Given the description of an element on the screen output the (x, y) to click on. 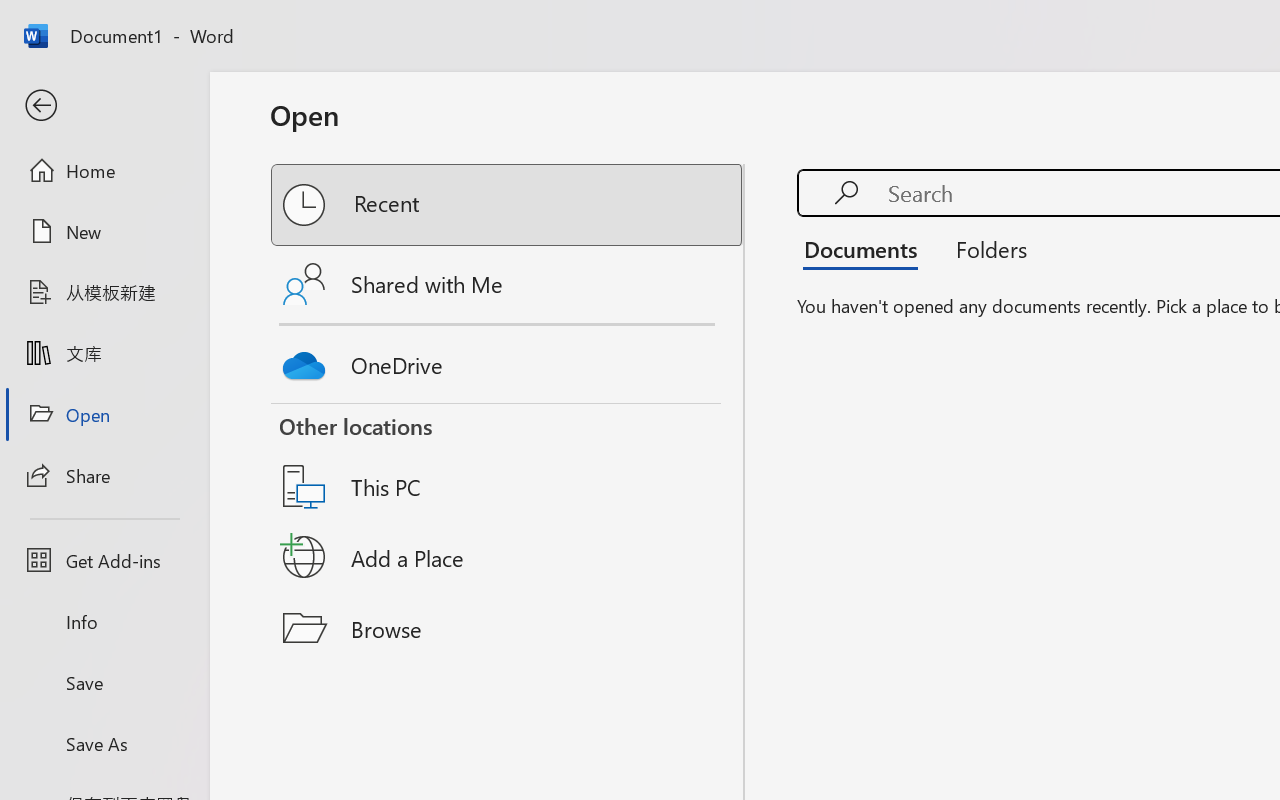
Browse (507, 627)
Save As (104, 743)
Recent (507, 205)
New (104, 231)
